Given the description of an element on the screen output the (x, y) to click on. 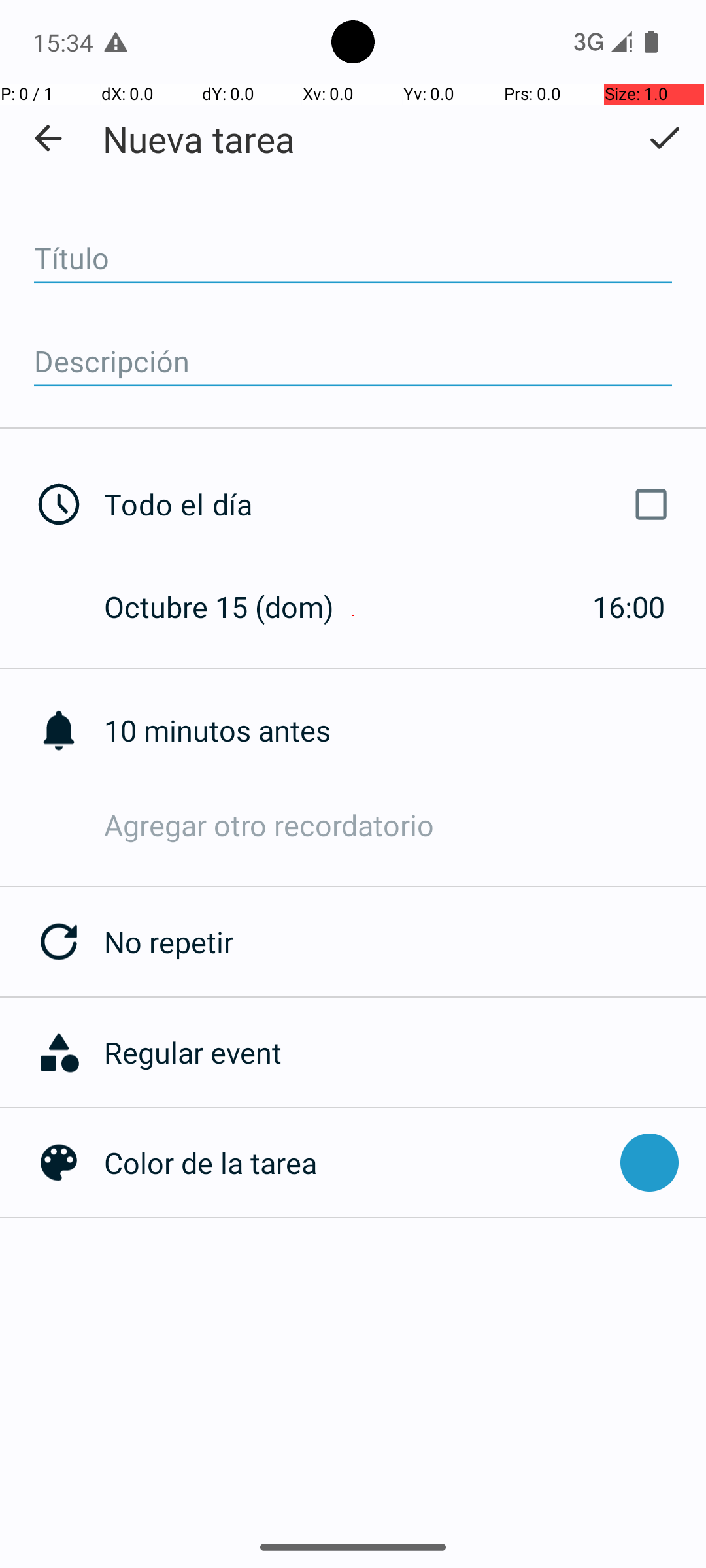
Nueva tarea Element type: android.widget.TextView (198, 138)
Guardar Element type: android.widget.Button (664, 137)
Título Element type: android.widget.EditText (352, 258)
Descripción Element type: android.widget.EditText (352, 361)
Octubre 15 (dom) Element type: android.widget.TextView (232, 606)
10 minutos antes Element type: android.widget.TextView (404, 729)
Agregar otro recordatorio Element type: android.widget.TextView (404, 824)
No repetir Element type: android.widget.TextView (404, 941)
Todo el día Element type: android.widget.CheckBox (390, 504)
Color de la tarea Element type: android.widget.TextView (354, 1162)
